Given the description of an element on the screen output the (x, y) to click on. 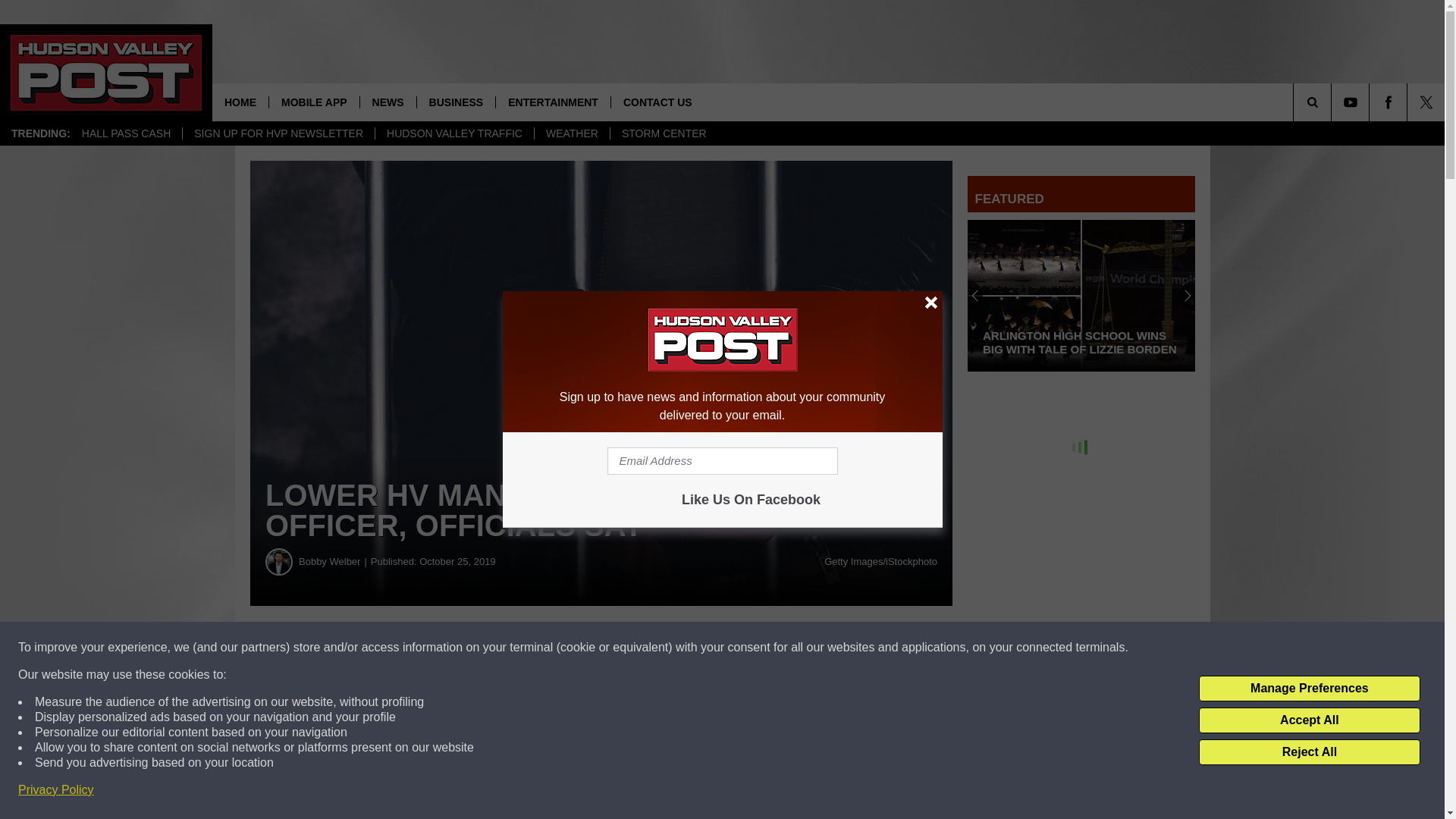
Reject All (1309, 751)
Accept All (1309, 720)
WEATHER (572, 133)
SEARCH (1333, 102)
STORM CENTER (663, 133)
SIGN UP FOR HVP NEWSLETTER (278, 133)
Manage Preferences (1309, 688)
Share on Twitter (741, 647)
Share on Facebook (460, 647)
ENTERTAINMENT (552, 102)
HOME (239, 102)
NEWS (387, 102)
Privacy Policy (55, 789)
MOBILE APP (313, 102)
SEARCH (1333, 102)
